Given the description of an element on the screen output the (x, y) to click on. 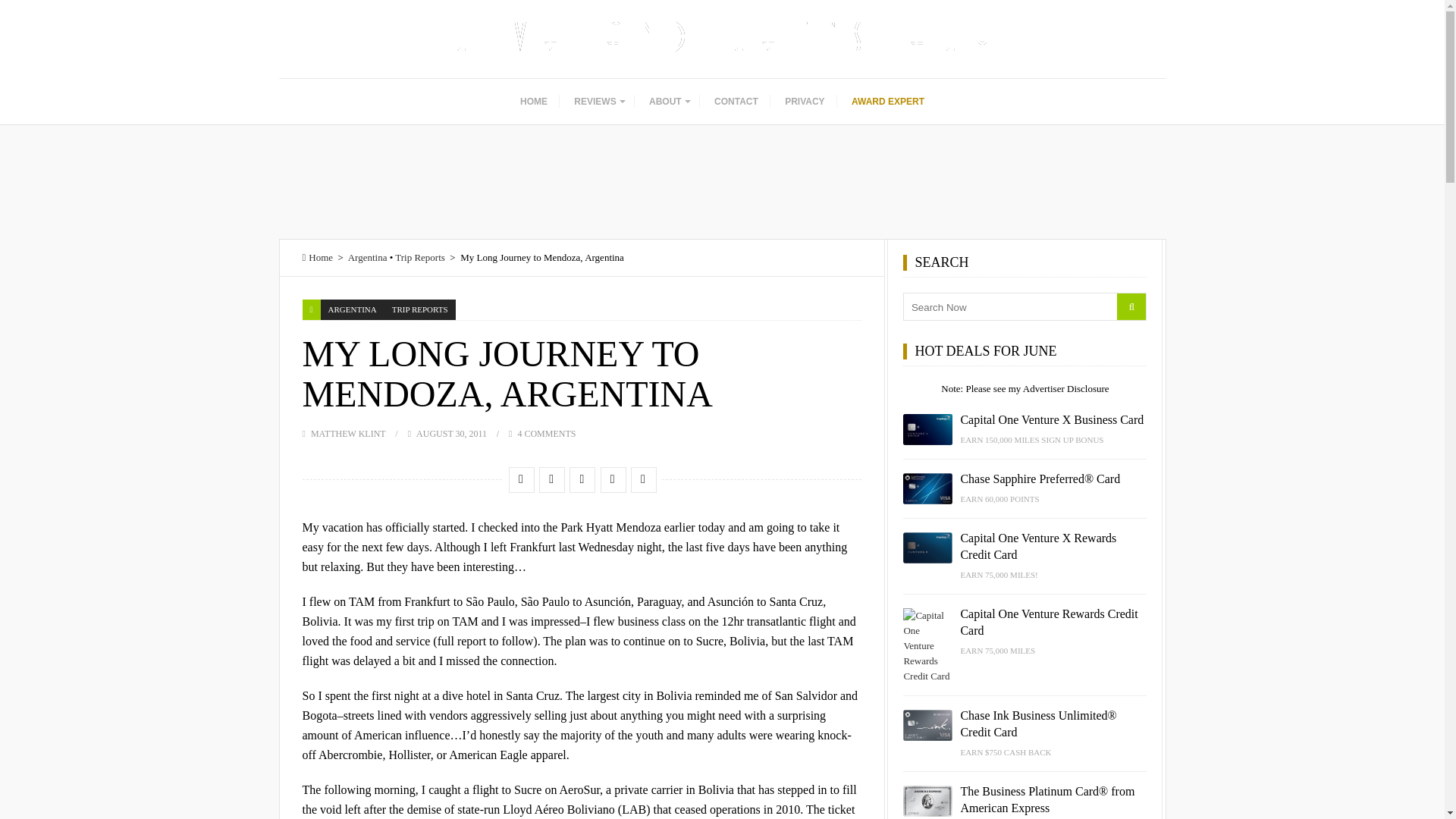
Share on Tumblr (642, 478)
4 COMMENTS (545, 433)
HOME (533, 101)
View all posts in Argentina (352, 309)
AWARD EXPERT (888, 101)
TRIP REPORTS (419, 309)
Argentina (367, 256)
ARGENTINA (352, 309)
ABOUT (668, 101)
PRIVACY (804, 101)
View all posts in Trip Reports (419, 309)
Posts by Matthew Klint (348, 433)
Home (317, 256)
Share on Twitter (550, 478)
AUGUST 30, 2011 (451, 433)
